Given the description of an element on the screen output the (x, y) to click on. 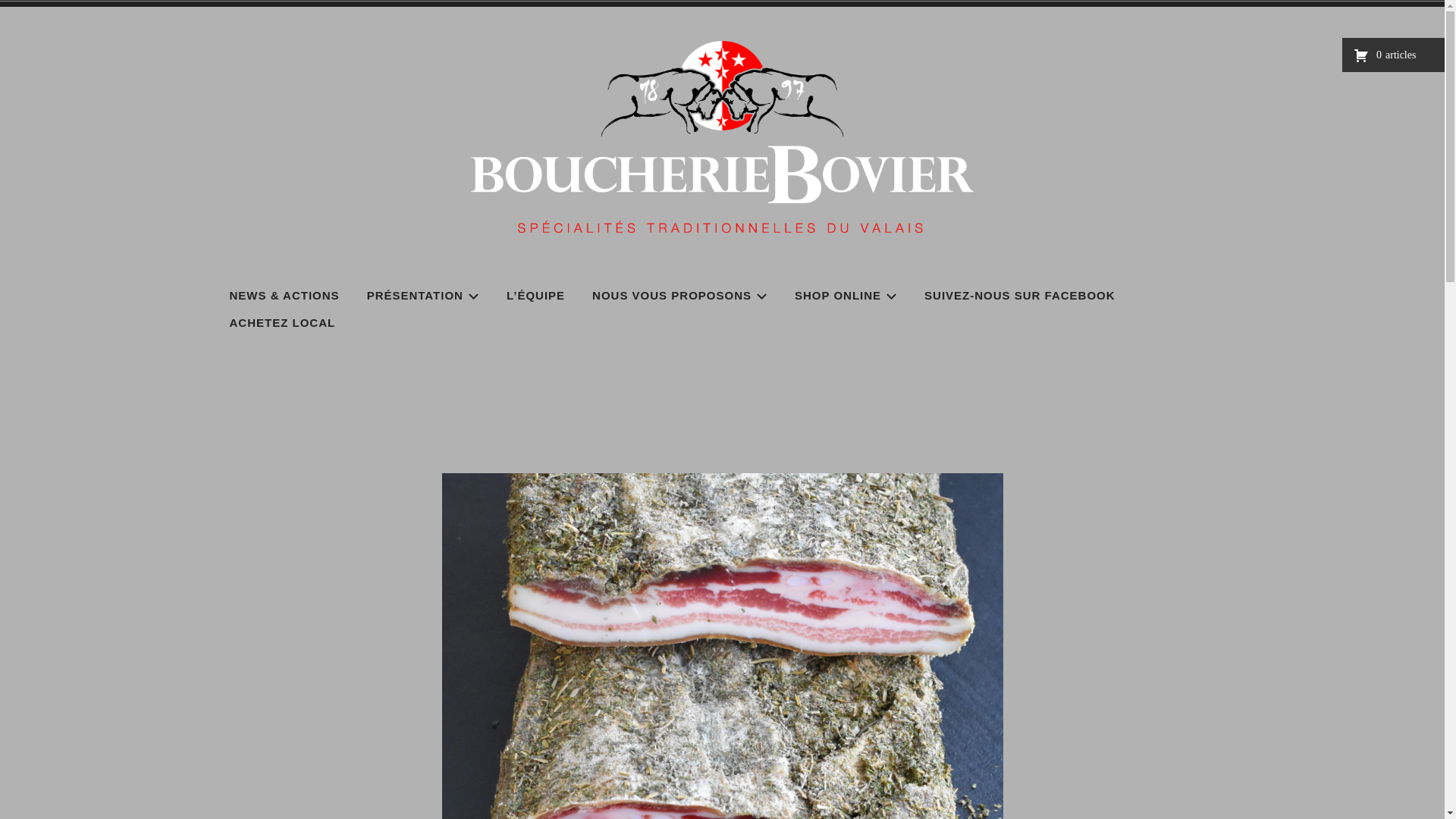
ACHETEZ LOCAL Element type: text (282, 322)
SUIVEZ-NOUS SUR FACEBOOK Element type: text (1019, 295)
Boucherie Bovier Element type: text (397, 277)
NOUS VOUS PROPOSONS Element type: text (679, 295)
NEWS & ACTIONS Element type: text (284, 295)
SHOP ONLINE Element type: text (845, 295)
